Given the description of an element on the screen output the (x, y) to click on. 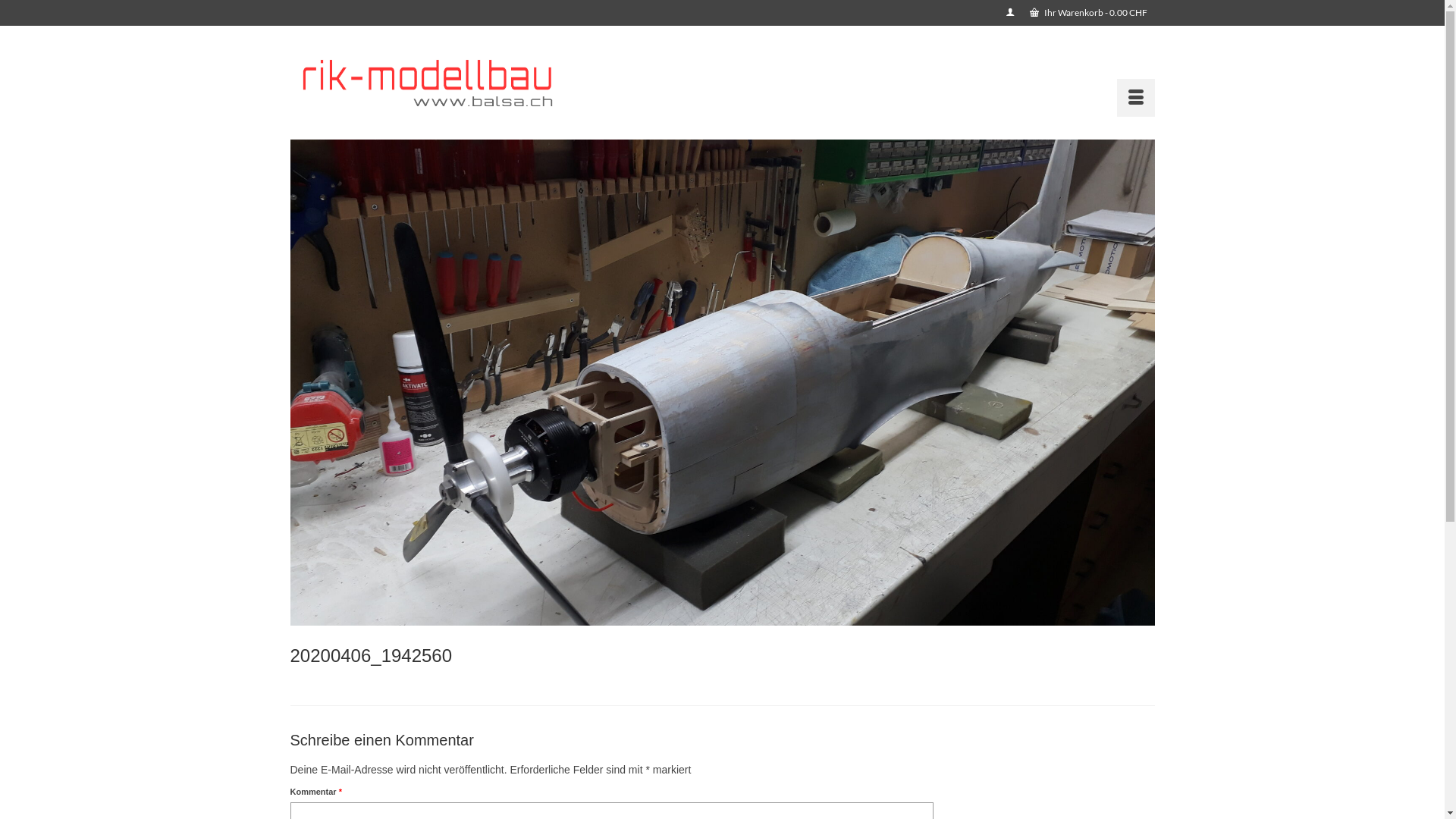
Ihr Warenkorb - 0.00 CHF Element type: text (1088, 12)
20200406_1942560 Element type: text (721, 655)
